Given the description of an element on the screen output the (x, y) to click on. 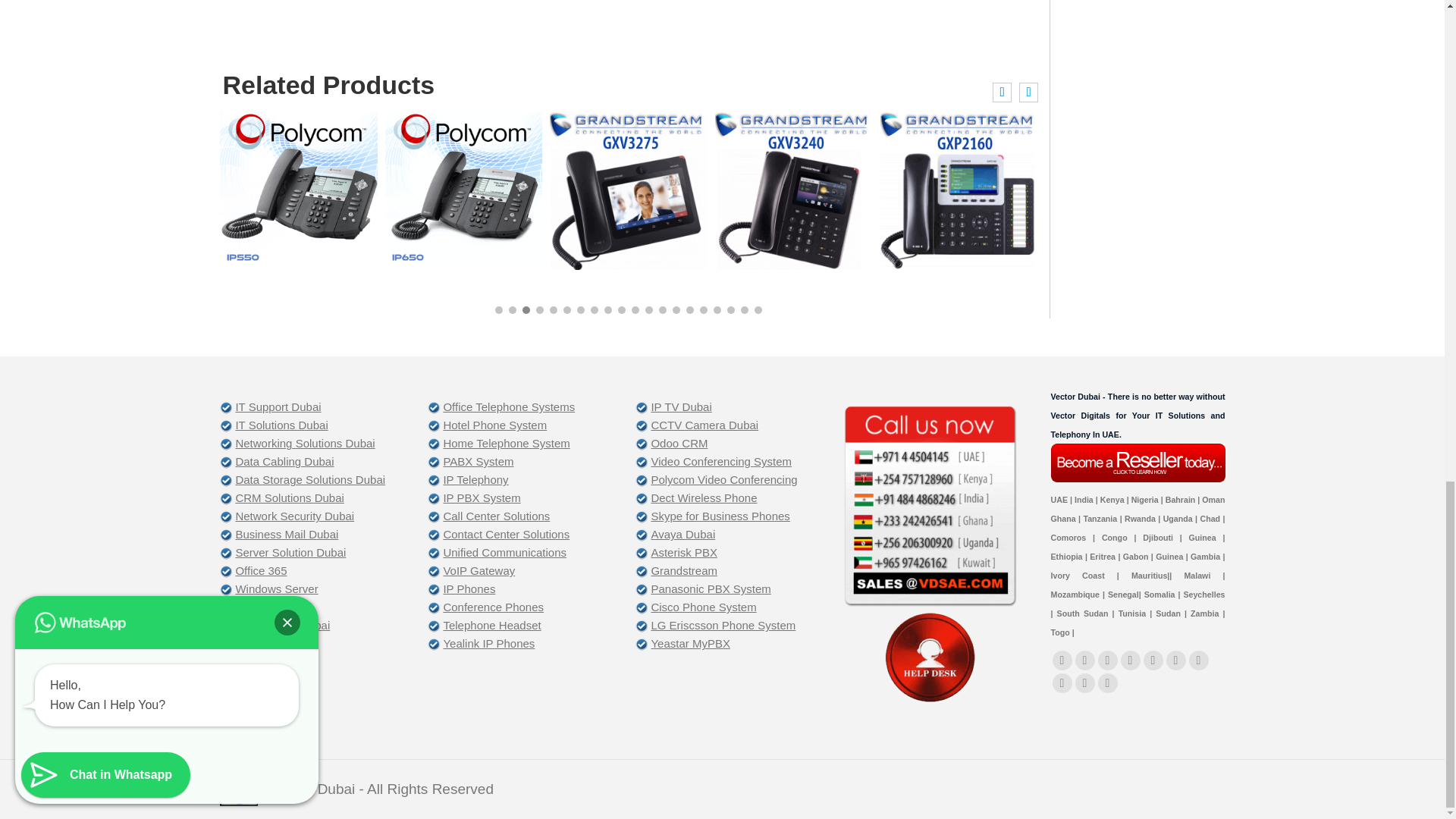
Pinterest page opens in new window (1198, 660)
Skype page opens in new window (1061, 682)
Facebook page opens in new window (1061, 660)
X page opens in new window (1084, 660)
Instagram page opens in new window (1084, 682)
Tumblr page opens in new window (1176, 660)
YouTube page opens in new window (1107, 660)
Linkedin page opens in new window (1152, 660)
Flickr page opens in new window (1130, 660)
Blogger page opens in new window (1107, 682)
